Given the description of an element on the screen output the (x, y) to click on. 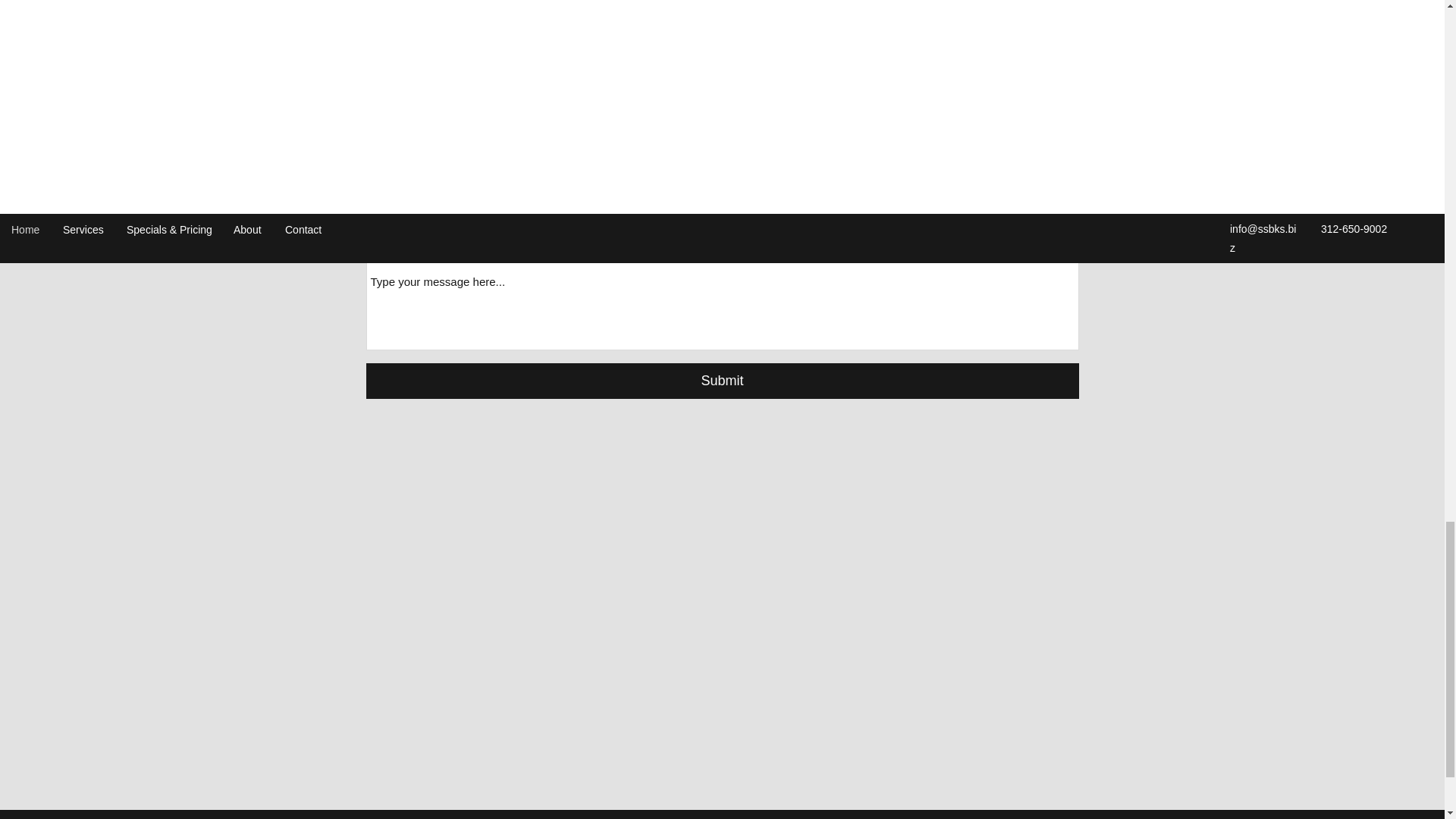
Submit (721, 380)
